Given the description of an element on the screen output the (x, y) to click on. 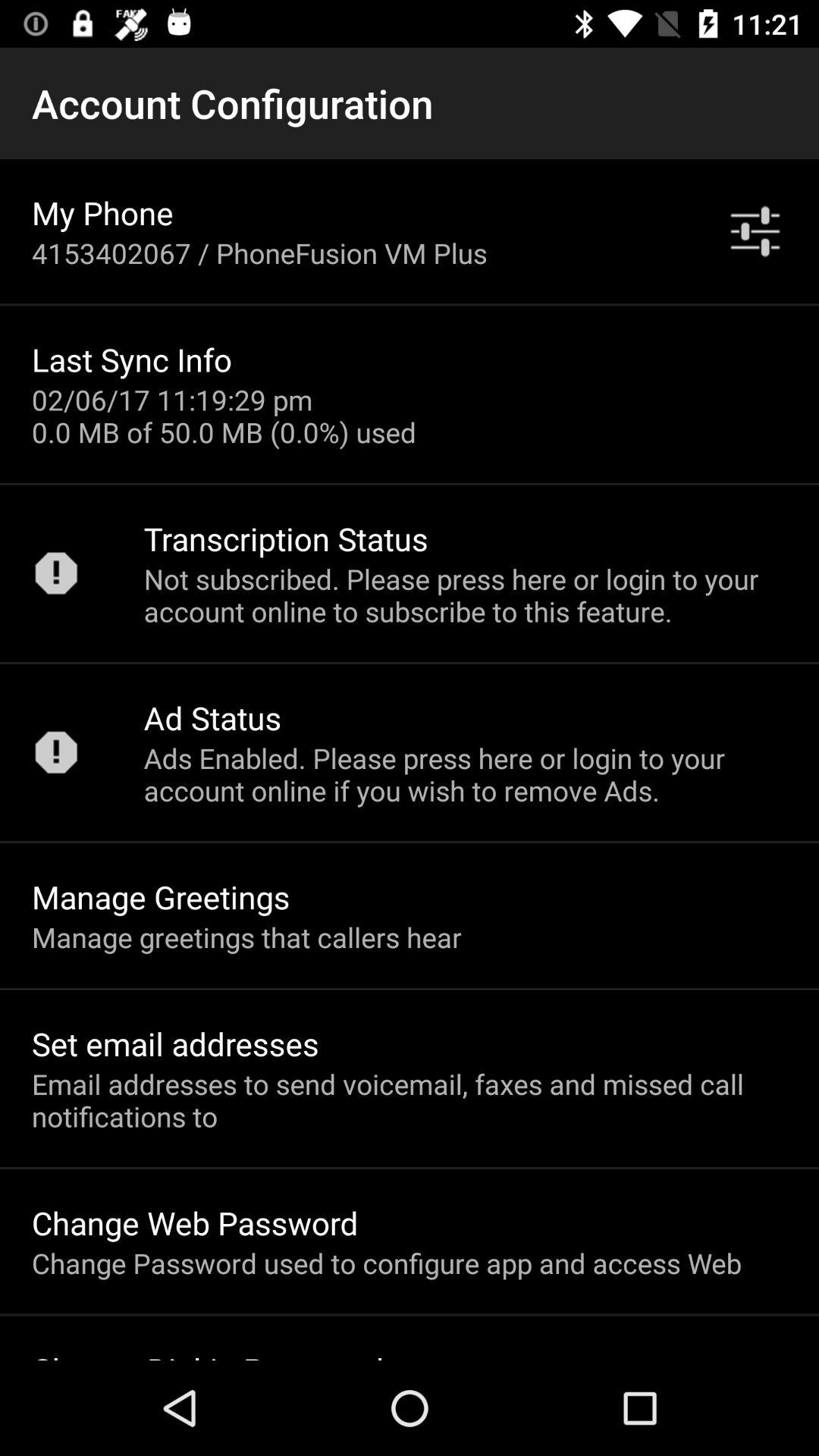
click the icon at the top right corner (755, 231)
